Given the description of an element on the screen output the (x, y) to click on. 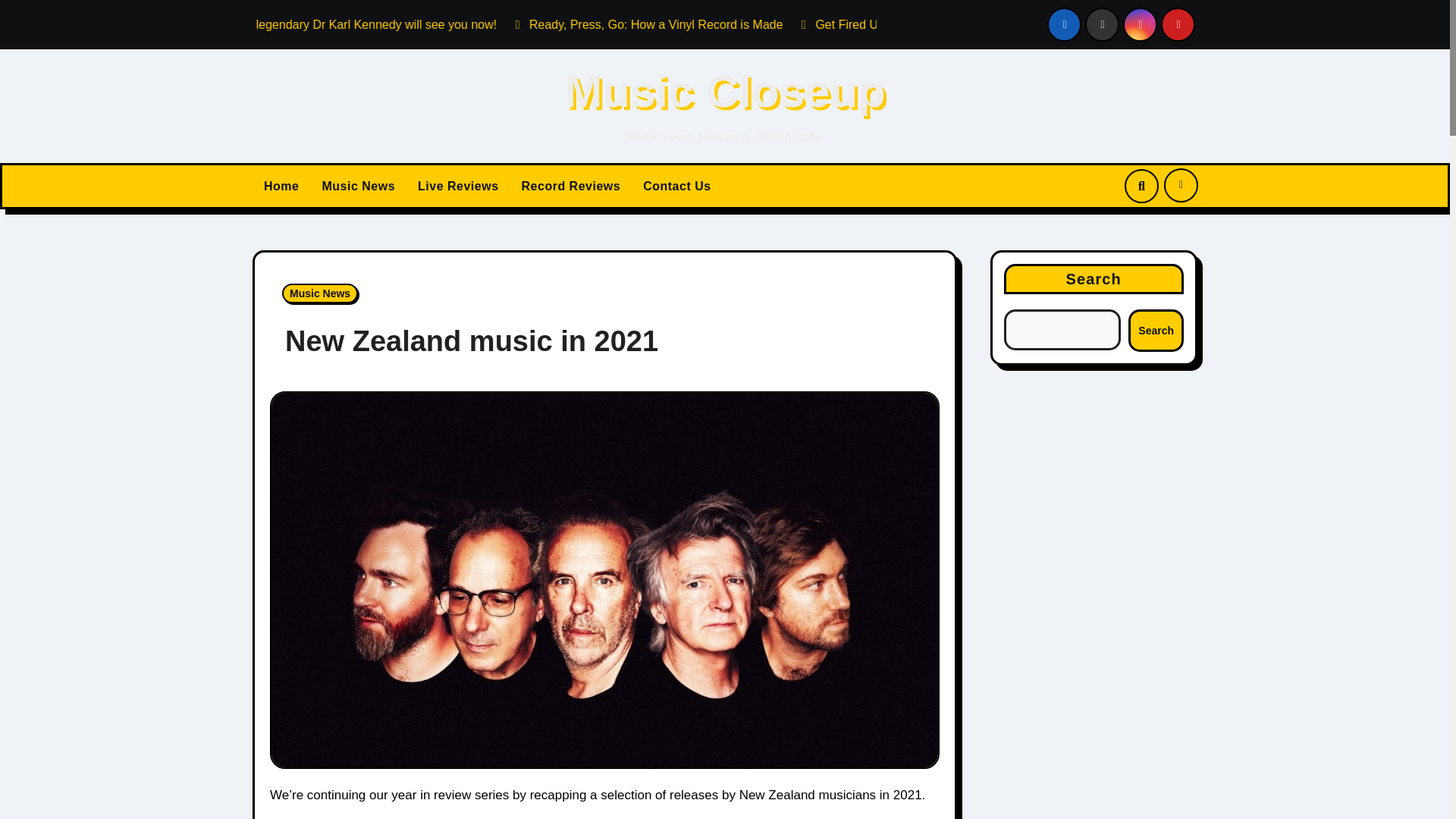
Music News (358, 187)
Live Reviews (458, 187)
Contact Us (676, 187)
Record Reviews (571, 187)
Ready, Press, Go: How a Vinyl Record is Made (850, 24)
Music News (358, 187)
Contact Us (676, 187)
Live Reviews (458, 187)
Home (280, 187)
Record Reviews (571, 187)
Music News (320, 293)
Music Closeup (724, 91)
Home (280, 187)
